Given the description of an element on the screen output the (x, y) to click on. 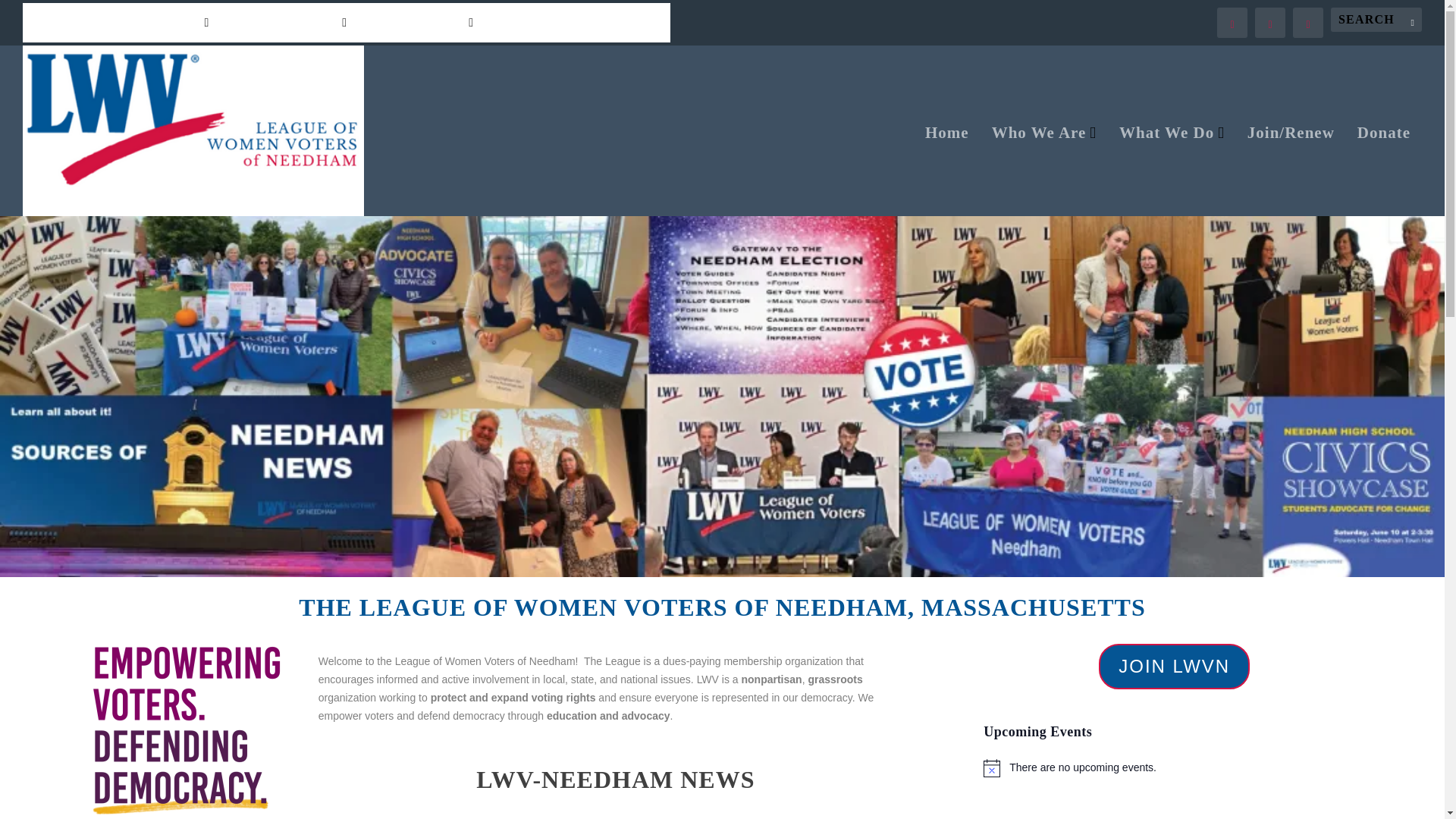
Posts Archive (532, 22)
Search for: (1376, 19)
League Positions (419, 22)
Calendar (50, 22)
Who We Are (1043, 171)
Your Government (152, 22)
What We Do (1171, 171)
Contact Us (622, 22)
